Given the description of an element on the screen output the (x, y) to click on. 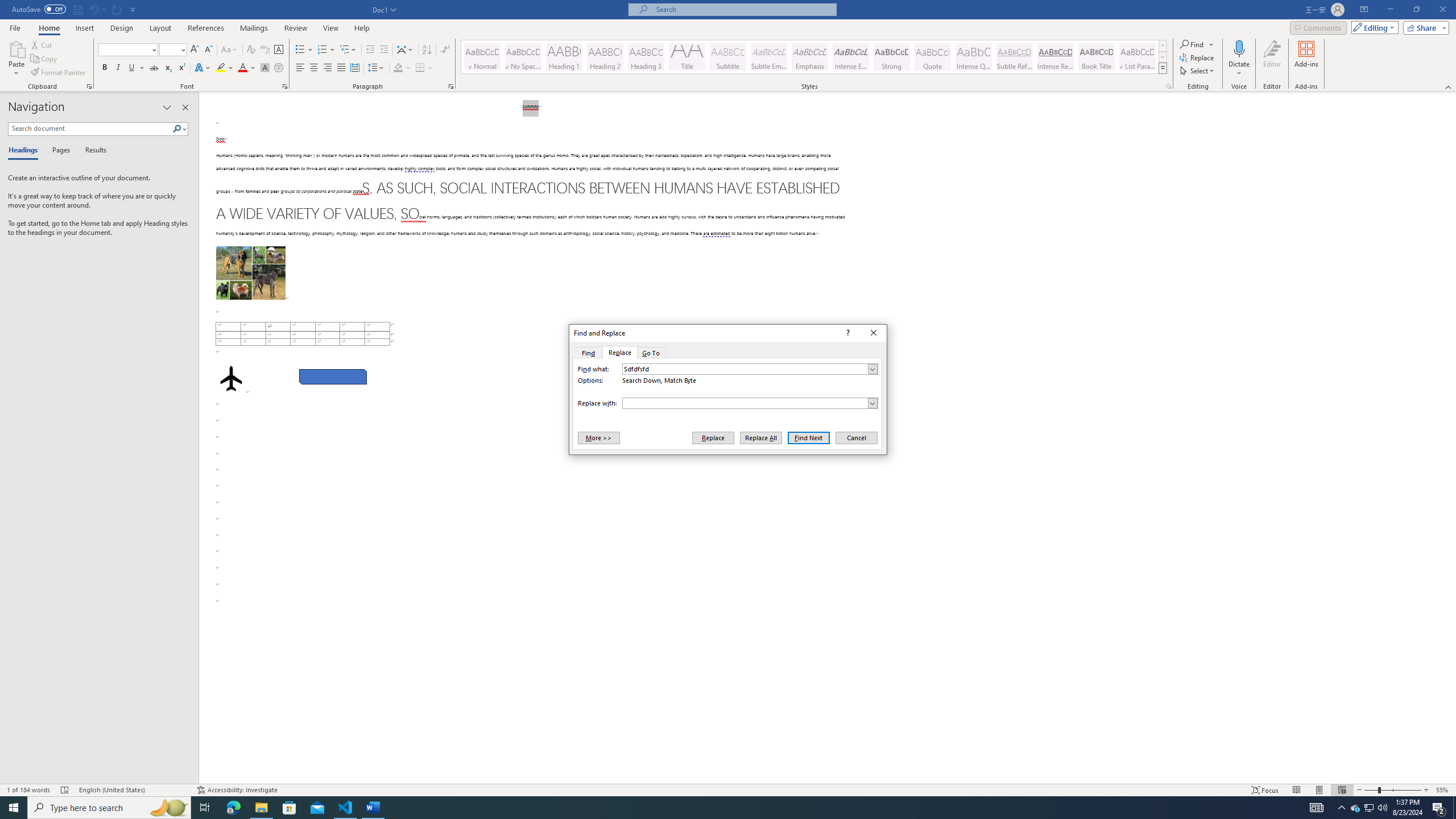
Airplane with solid fill (230, 378)
Subtle Emphasis (768, 56)
Start (13, 807)
Clear Formatting (250, 49)
Strikethrough (154, 67)
Line and Paragraph Spacing (376, 67)
Select (1197, 69)
Replace All (761, 437)
Shrink Font (208, 49)
Mode (1372, 27)
